Given the description of an element on the screen output the (x, y) to click on. 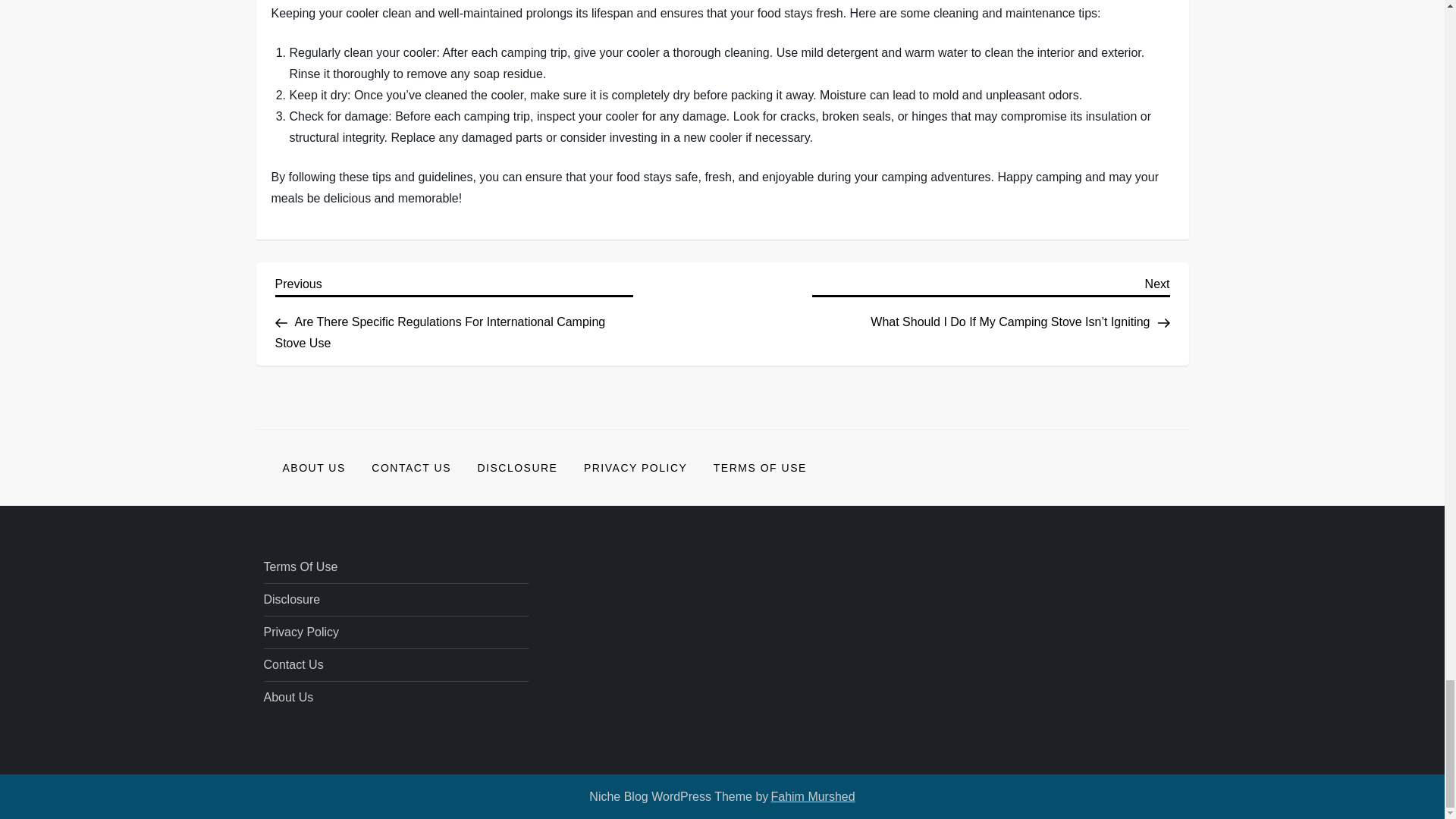
About Us (288, 697)
PRIVACY POLICY (635, 467)
Fahim Murshed (812, 796)
Disclosure (291, 599)
Contact Us (293, 664)
DISCLOSURE (517, 467)
TERMS OF USE (759, 467)
Terms Of Use (300, 567)
CONTACT US (411, 467)
Privacy Policy (301, 631)
